Given the description of an element on the screen output the (x, y) to click on. 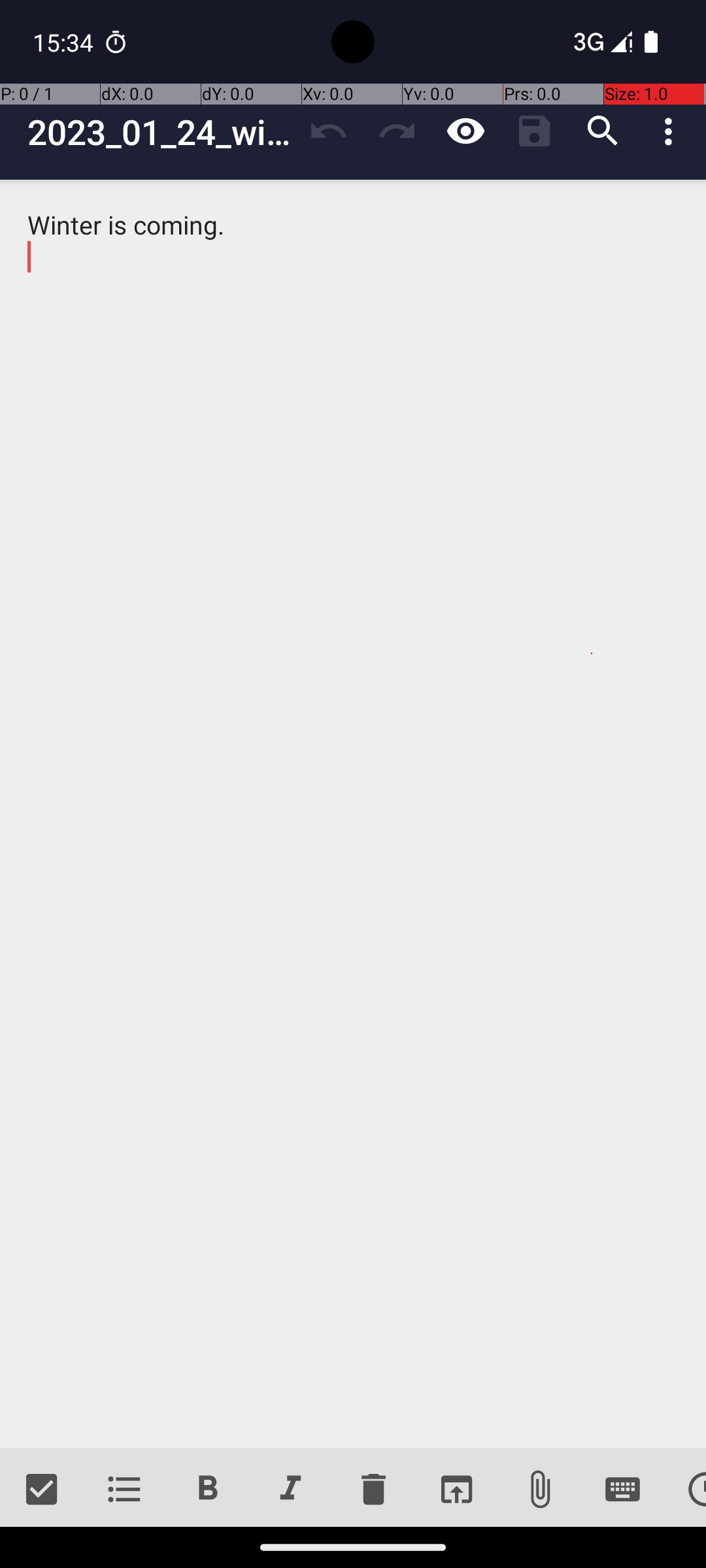
2023_01_24_wise_lamp Element type: android.widget.TextView (160, 131)
Winter is coming.
 Element type: android.widget.EditText (353, 813)
